Given the description of an element on the screen output the (x, y) to click on. 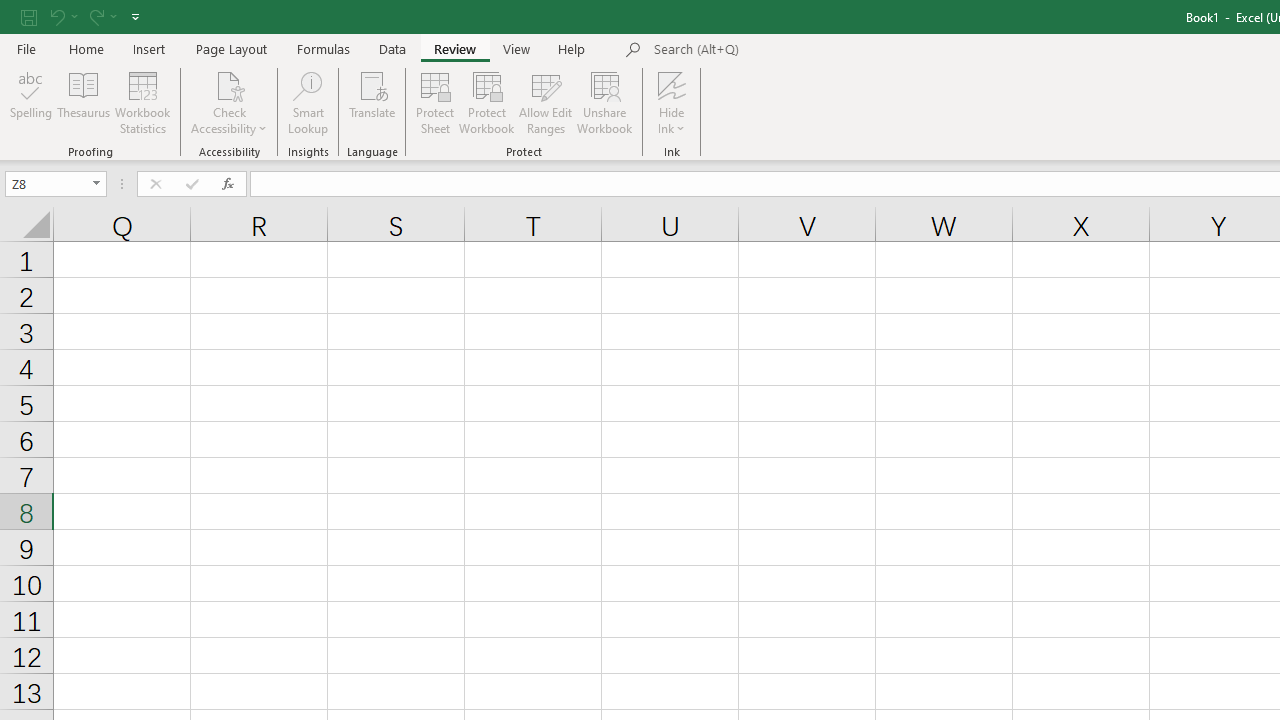
Open (96, 183)
File Tab (26, 48)
Home (86, 48)
Hide Ink (671, 84)
Redo (102, 15)
Help (572, 48)
Save (29, 15)
